Given the description of an element on the screen output the (x, y) to click on. 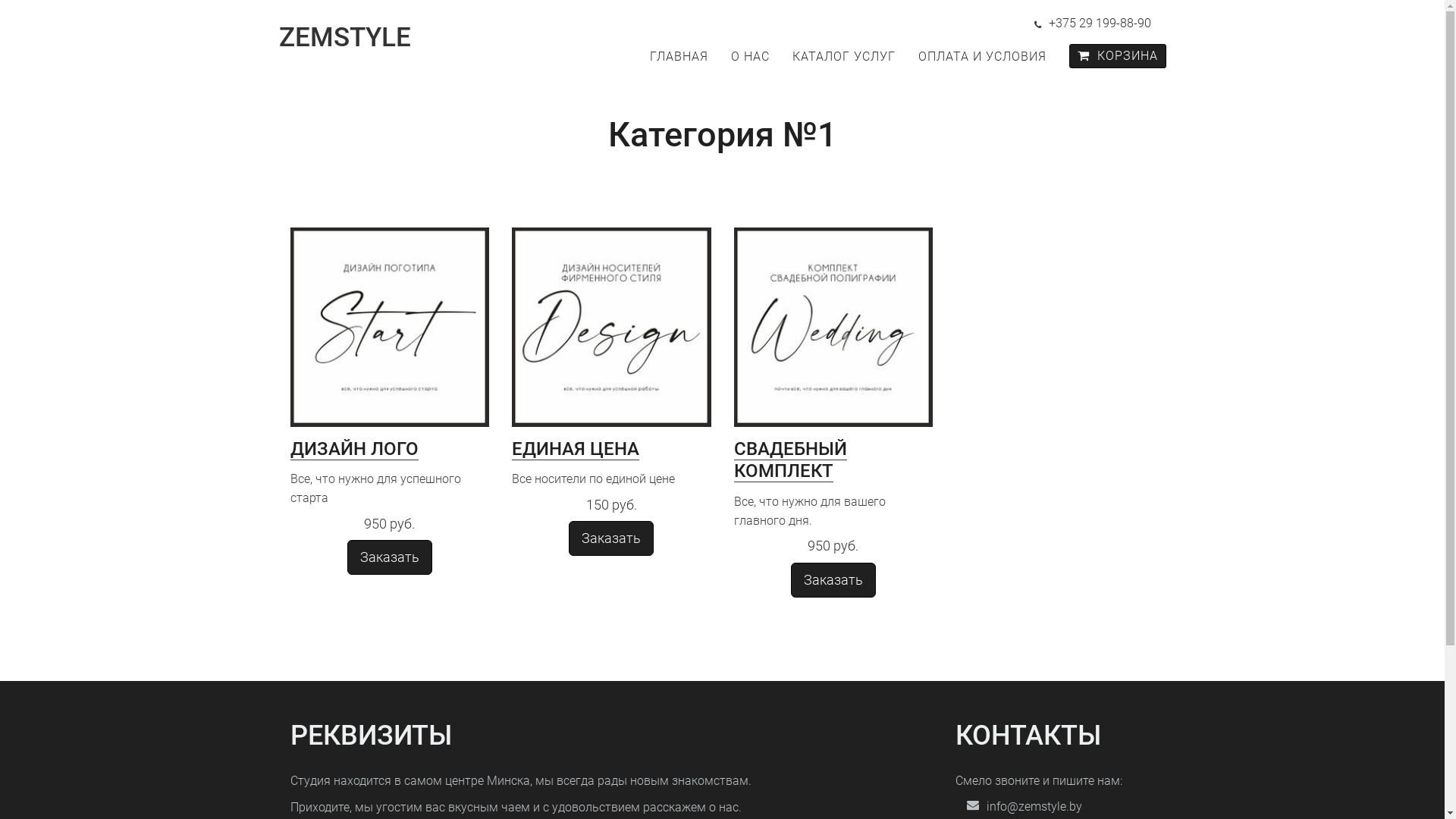
ZEMSTYLE Element type: text (354, 37)
